Given the description of an element on the screen output the (x, y) to click on. 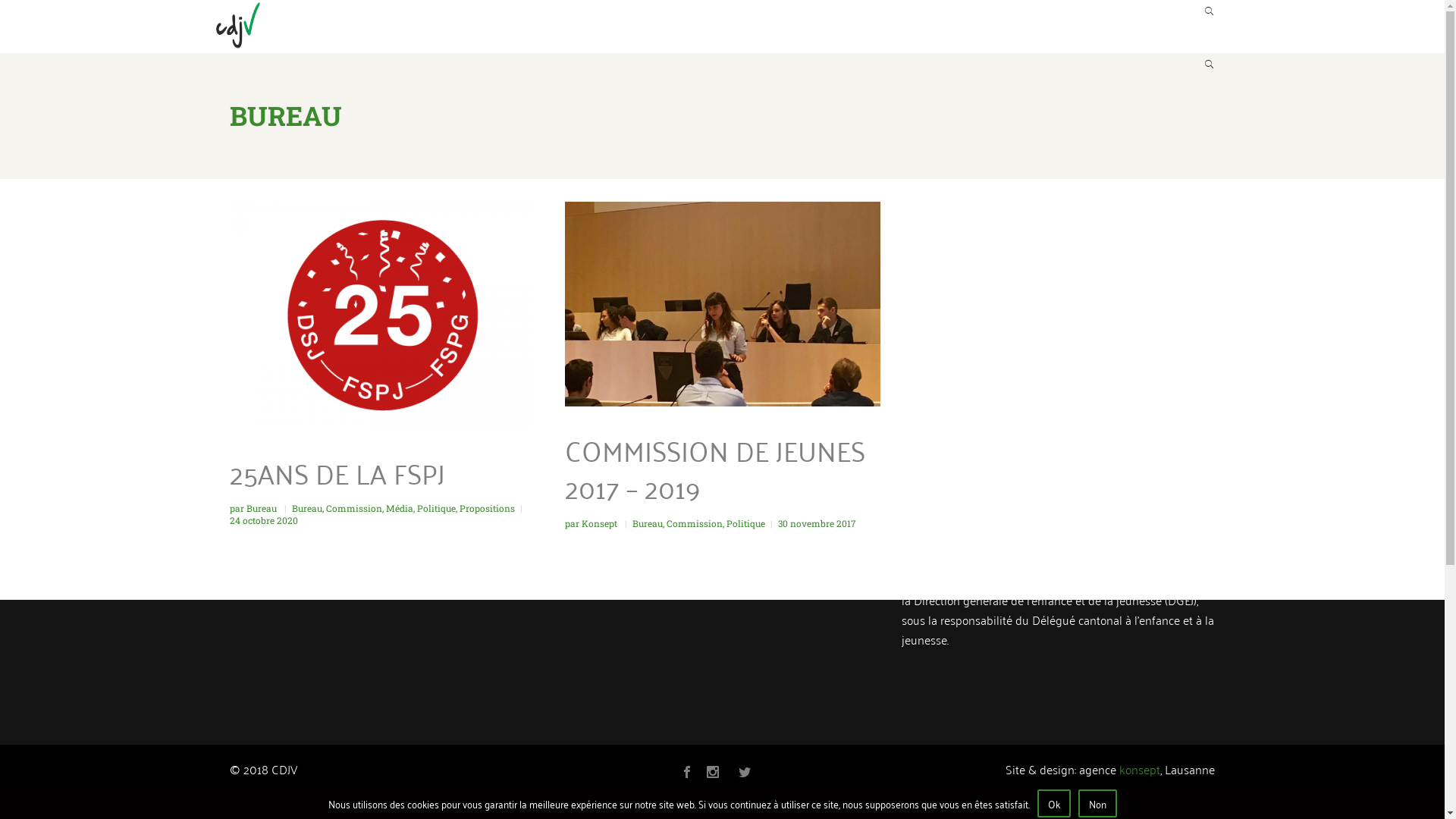
Prises de position Element type: text (787, 26)
Liens Element type: text (1104, 26)
25ans de la FSPJ Element type: hover (386, 315)
Konsept Element type: text (599, 523)
Session des jeunes Element type: text (924, 26)
Politique Element type: text (436, 508)
Non Element type: text (1097, 803)
Bureau Element type: text (647, 523)
Bureau Element type: text (306, 508)
25ANS DE LA FSPJ Element type: text (336, 472)
Propositions Element type: text (486, 508)
Contact Element type: text (1176, 26)
Commission Element type: text (693, 523)
konsept Element type: text (1139, 768)
Bureau Element type: text (261, 508)
Commission Element type: text (354, 508)
Ok Element type: text (1053, 803)
Commission de jeunes Element type: text (550, 26)
Politique Element type: text (745, 523)
